Given the description of an element on the screen output the (x, y) to click on. 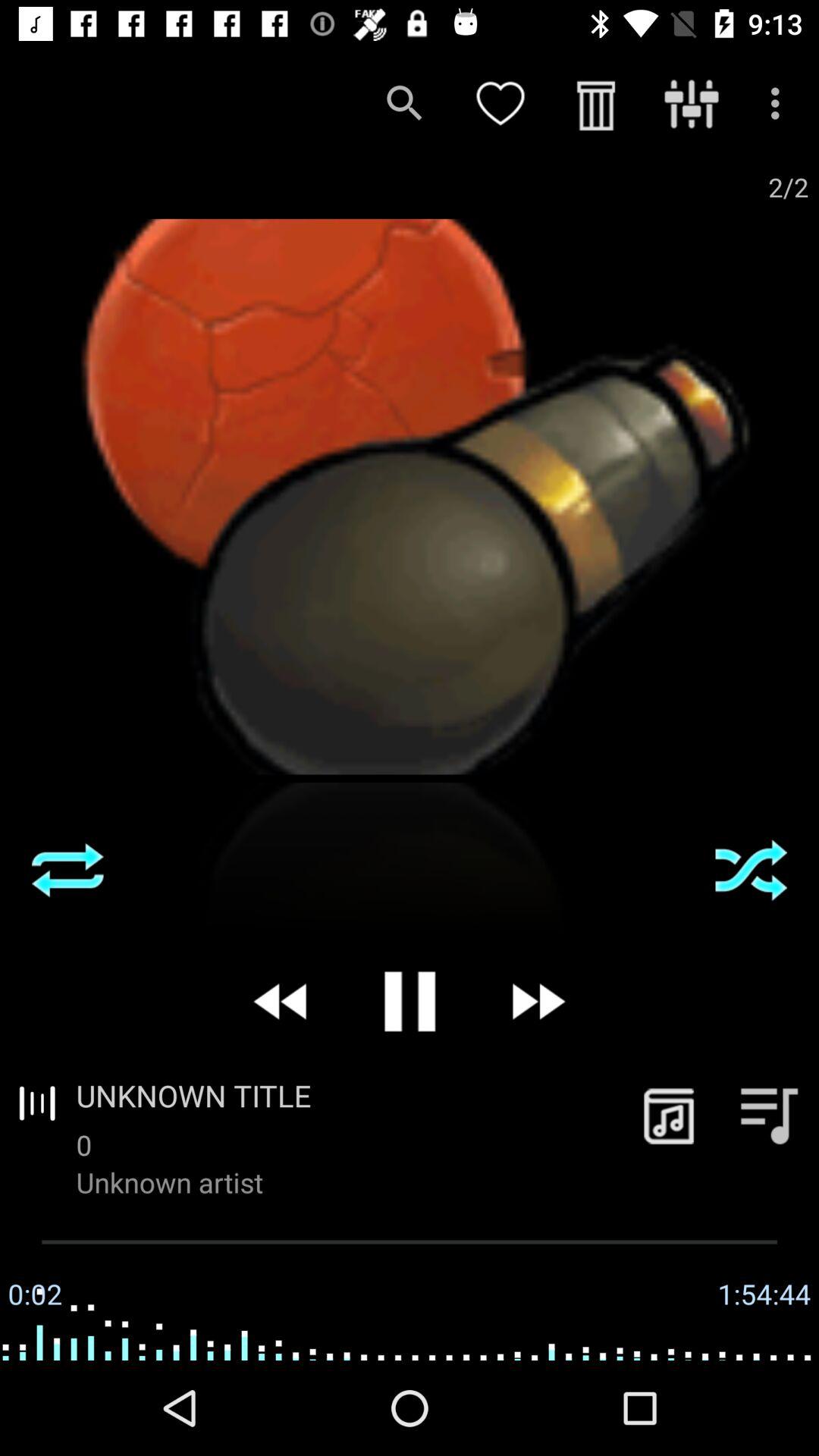
press the shuffle (751, 869)
